Given the description of an element on the screen output the (x, y) to click on. 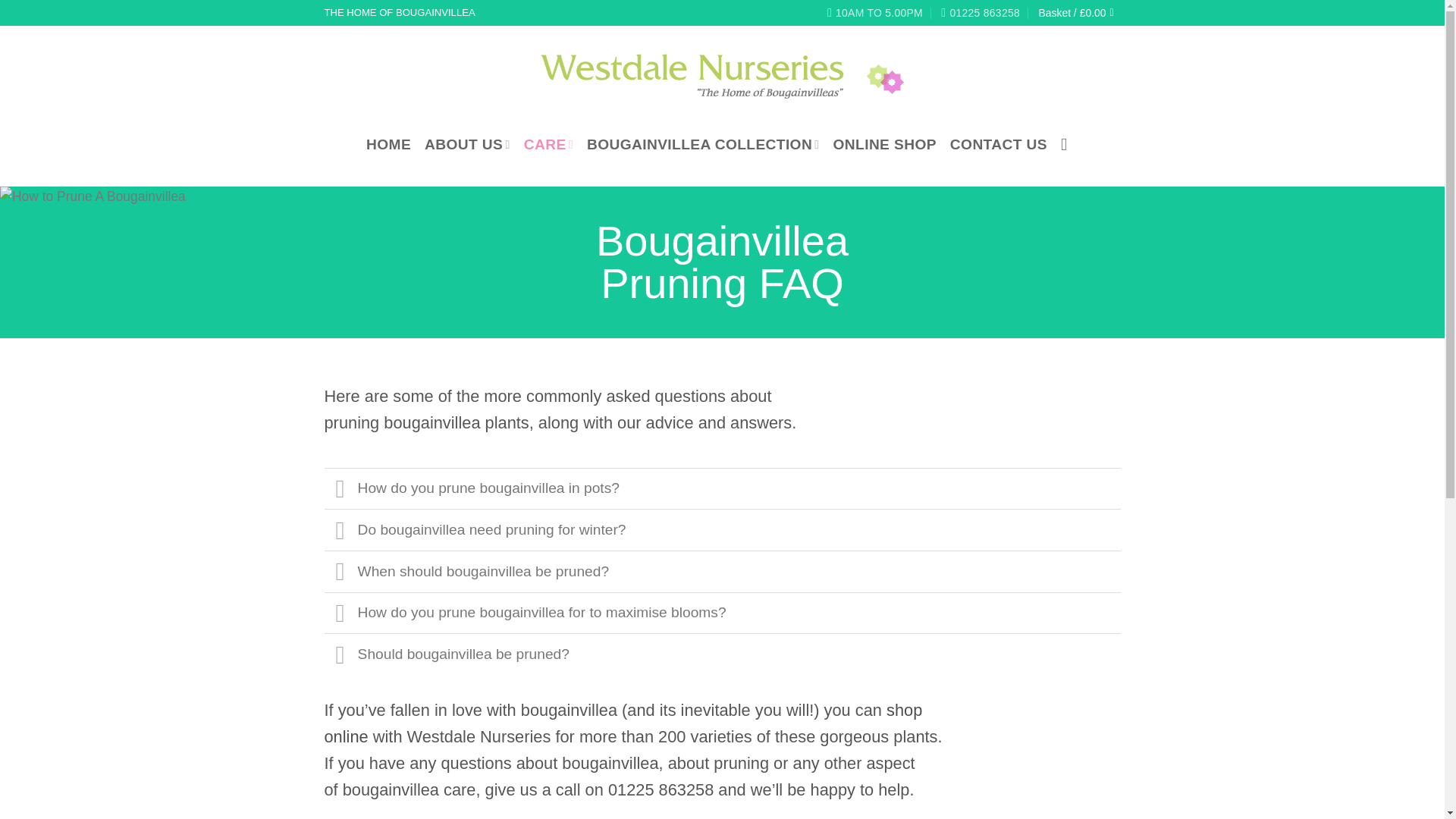
ONLINE SHOP (884, 144)
How do you prune bougainvillea in pots? (722, 488)
Should bougainvillea be pruned? (722, 653)
01225 863258 (980, 12)
10AM TO 5.00PM (875, 12)
HOME (388, 144)
BOUGAINVILLEA COLLECTION (702, 144)
Do bougainvillea need pruning for winter? (722, 529)
10am to 5.00pm  (875, 12)
CARE (548, 144)
How do you prune bougainvillea for to maximise blooms? (722, 612)
CONTACT US (998, 144)
When should bougainvillea be pruned? (722, 571)
ABOUT US (468, 144)
01225 863258 (980, 12)
